Given the description of an element on the screen output the (x, y) to click on. 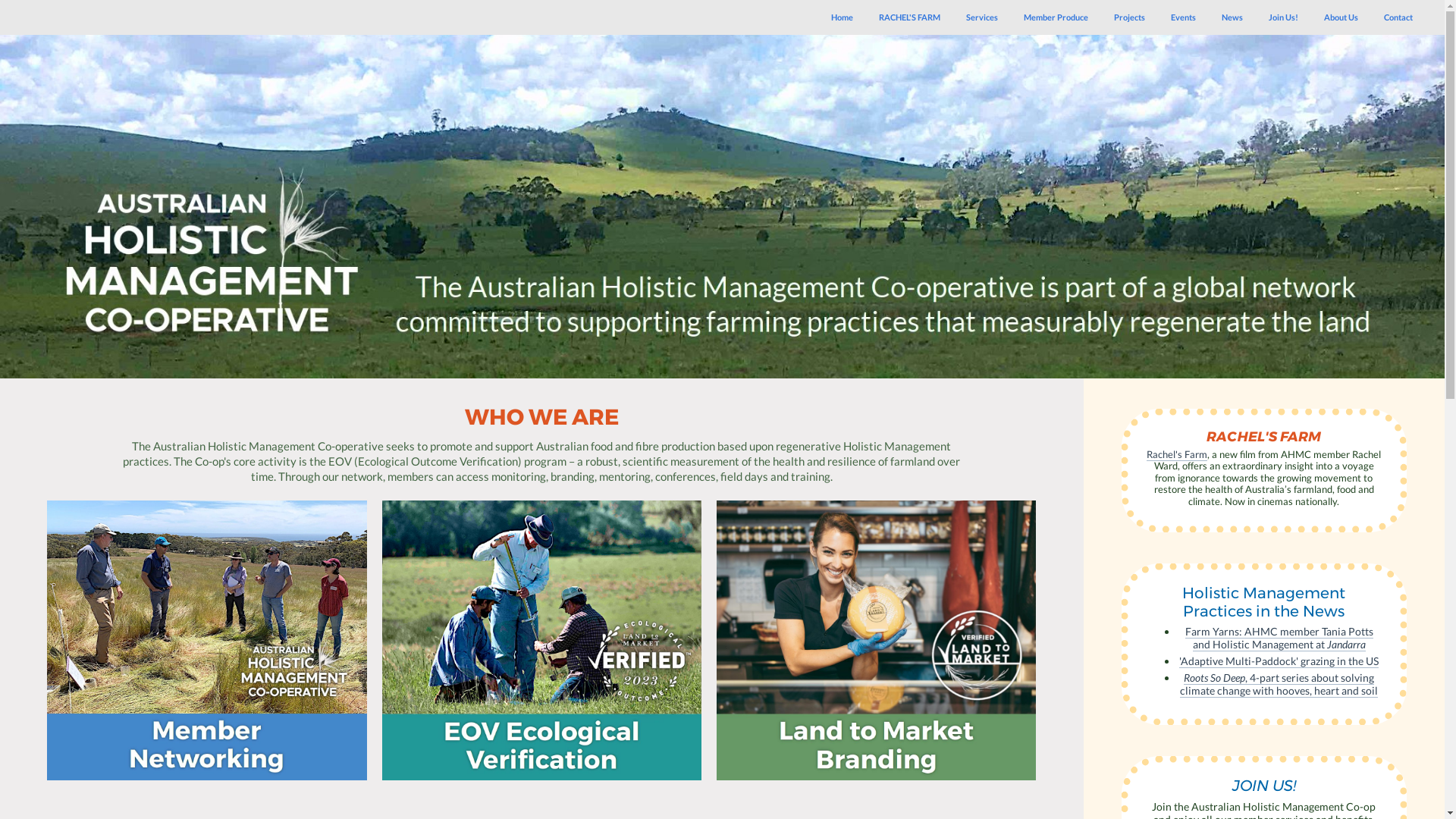
Projects Element type: text (1129, 17)
RACHEL'S FARM Element type: text (909, 17)
Home Element type: text (842, 17)
Contact Element type: text (1397, 17)
Services Element type: text (982, 17)
Member Produce Element type: text (1055, 17)
Join Us! Element type: text (1283, 17)
'Adaptive Multi-Paddock' grazing in the US Element type: text (1278, 661)
News Element type: text (1232, 17)
Rachel's Farm Element type: text (1176, 454)
About Us Element type: text (1340, 17)
Events Element type: text (1182, 17)
